Given the description of an element on the screen output the (x, y) to click on. 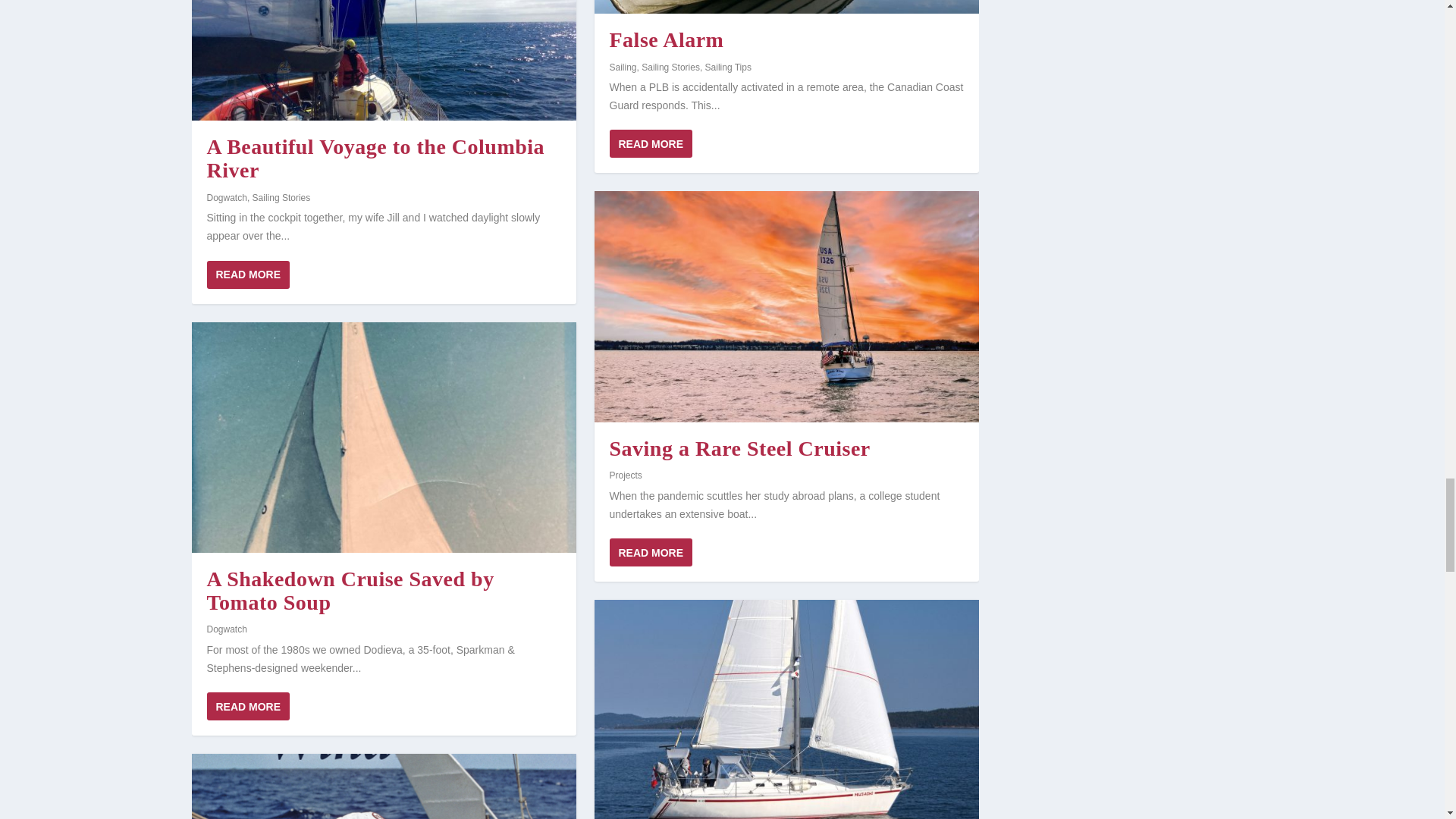
Book Review: Taken by the Wind (382, 786)
A Beautiful Voyage to the Columbia River (382, 60)
A Shakedown Cruise Saved by Tomato Soup (382, 437)
